Given the description of an element on the screen output the (x, y) to click on. 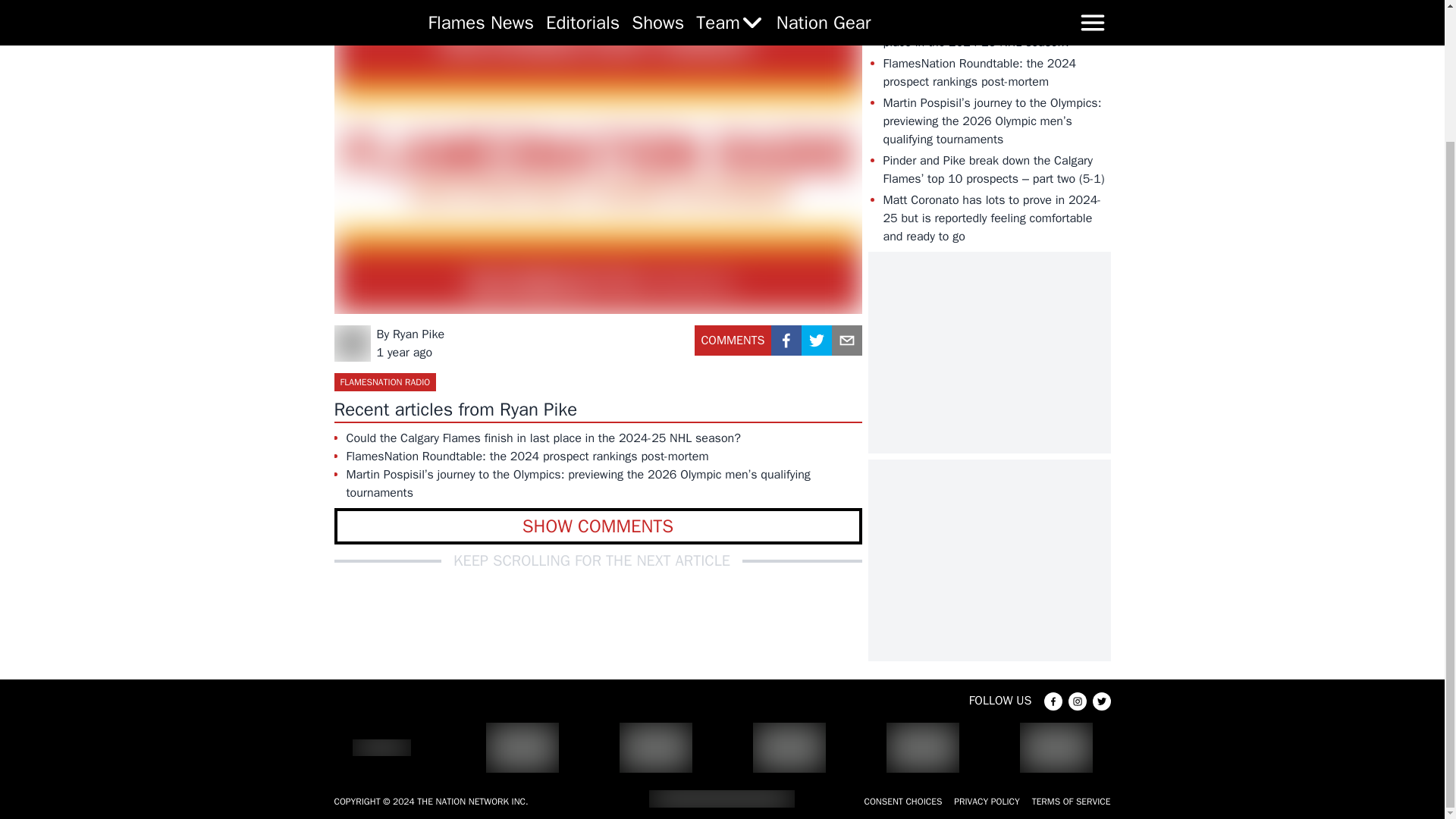
COMMENTS (732, 345)
SHOW COMMENTS (597, 525)
Ryan Pike (418, 333)
SHOW COMMENTS (597, 525)
FLAMESNATION RADIO (384, 382)
